Given the description of an element on the screen output the (x, y) to click on. 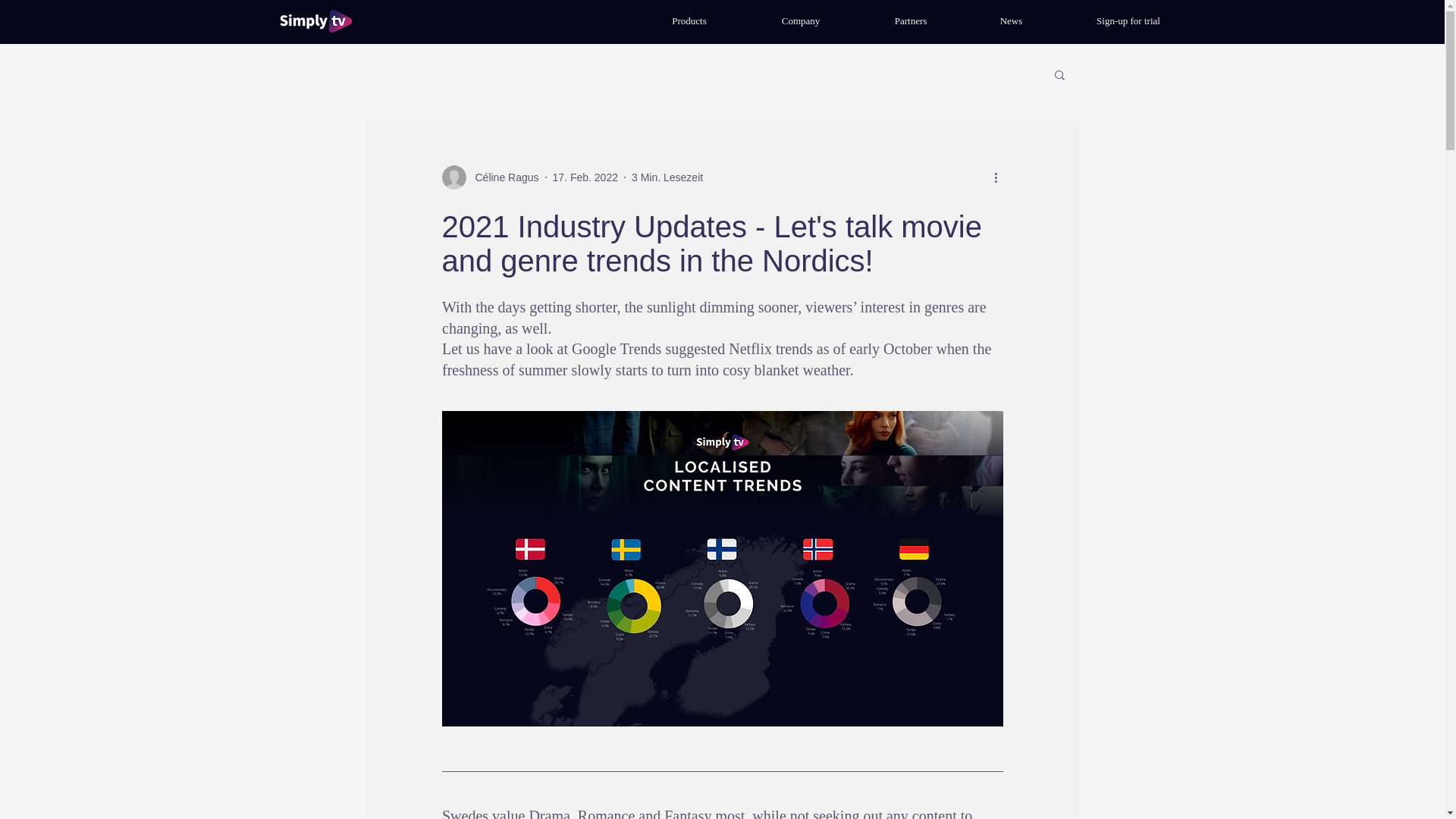
Products (688, 21)
Sign-up for trial (1128, 21)
News (1010, 21)
17. Feb. 2022 (585, 177)
Company (800, 21)
Partners (910, 21)
3 Min. Lesezeit (667, 177)
